Given the description of an element on the screen output the (x, y) to click on. 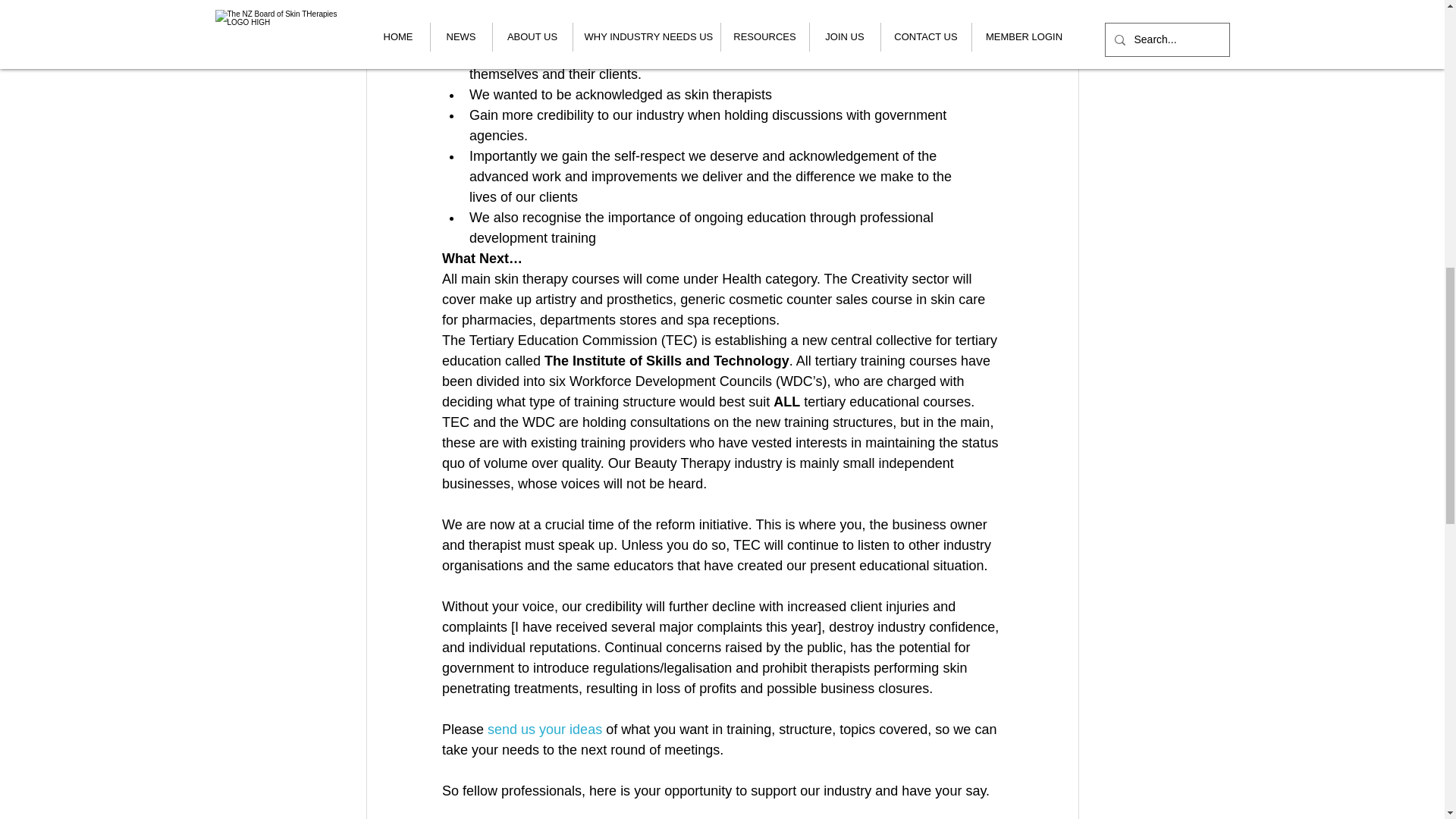
send us your ideas  (546, 729)
